Given the description of an element on the screen output the (x, y) to click on. 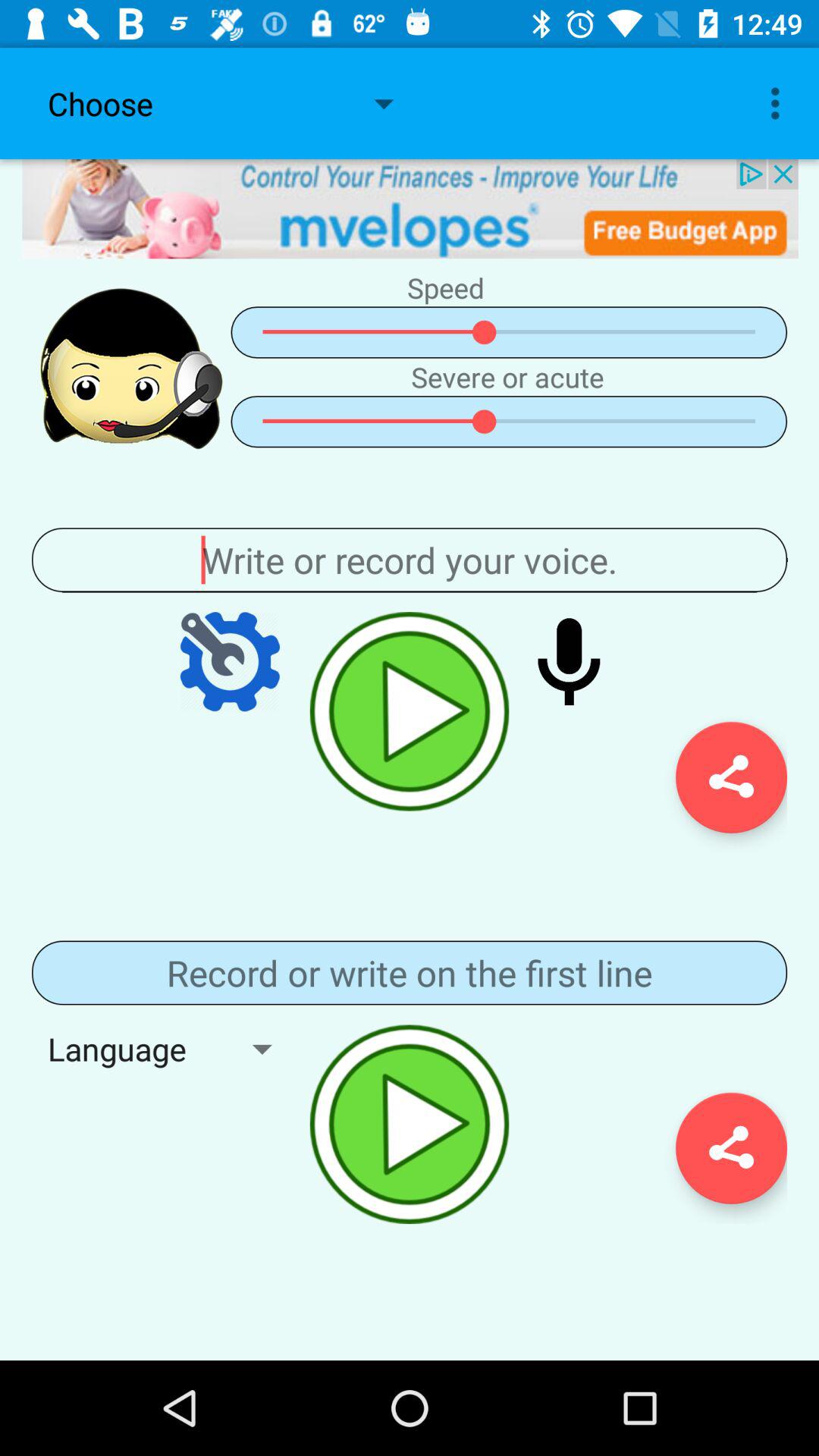
toggle audio recording (409, 1123)
